Given the description of an element on the screen output the (x, y) to click on. 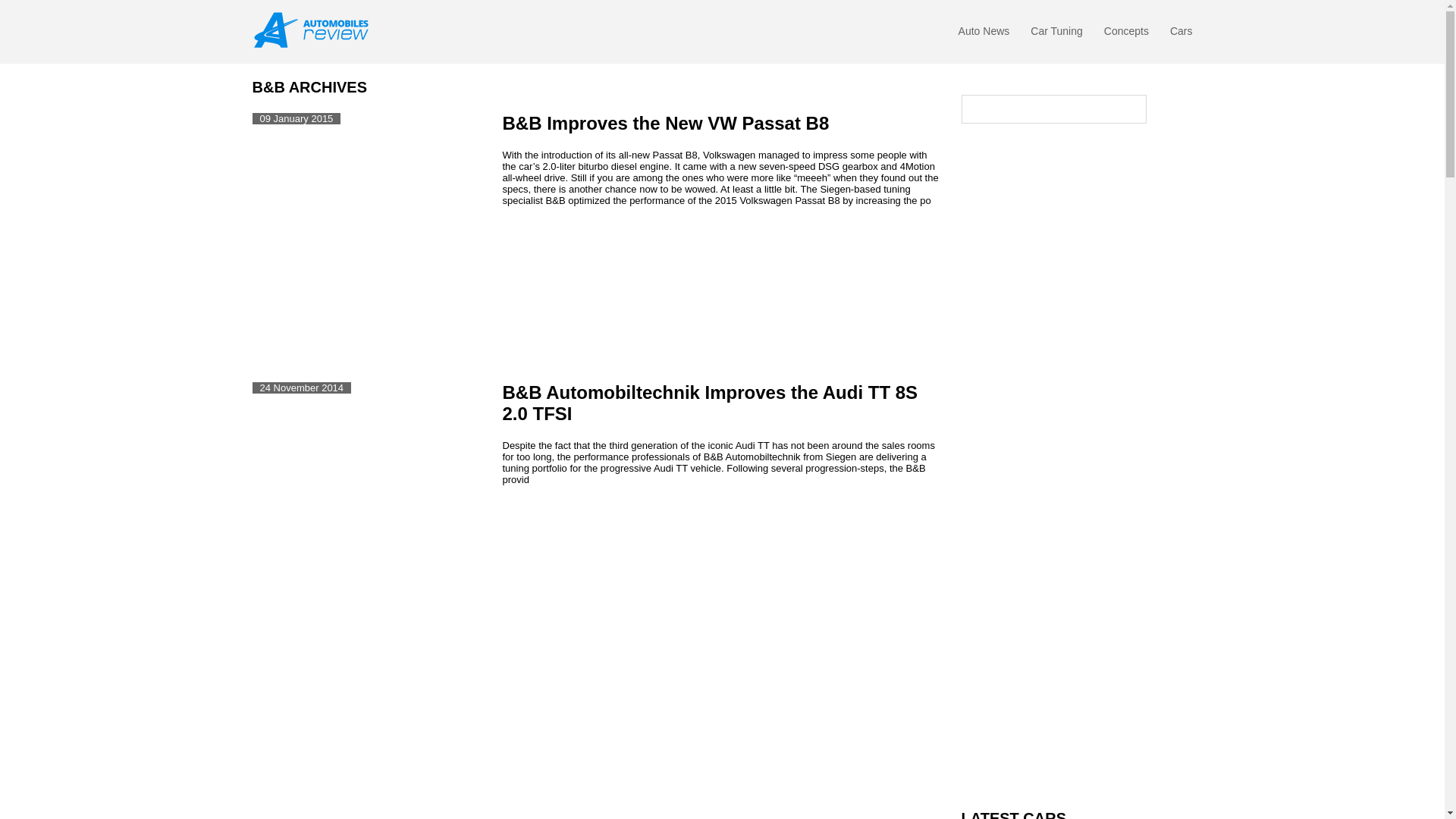
Auto News (984, 35)
Chrysler 200C EV Detroit (1074, 151)
Cars (1181, 35)
Cars (1181, 35)
Concepts (1125, 35)
Praga Bohema (1153, 267)
Buick Regal GS (998, 151)
Cadillac CTS-V Racing Coupe (1153, 151)
LATEST CARS (1076, 814)
Acura TLX (998, 267)
